Given the description of an element on the screen output the (x, y) to click on. 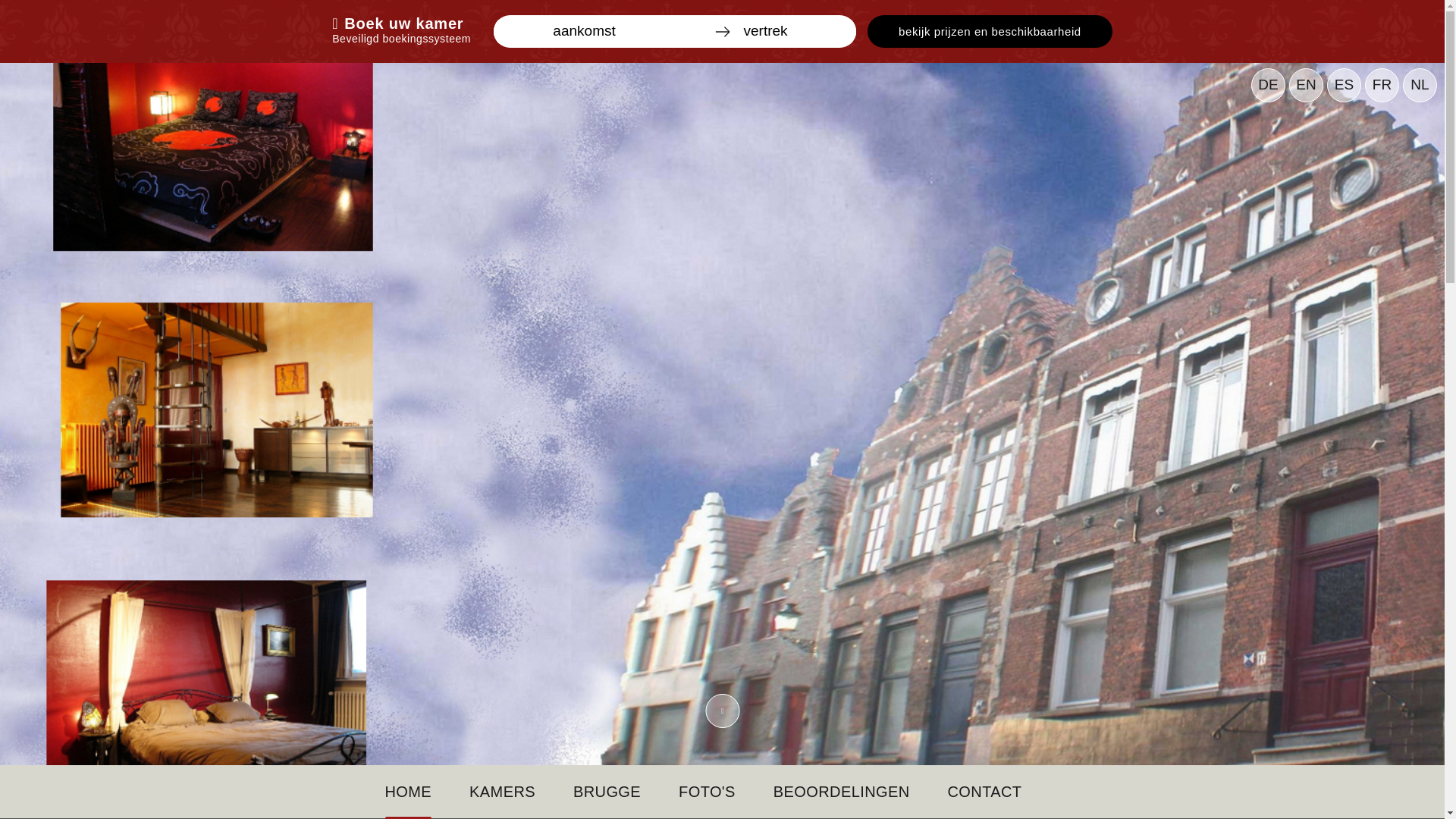
CONTACT Element type: text (984, 791)
EN Element type: text (1306, 85)
HOME Element type: text (408, 791)
FR Element type: text (1382, 85)
DE Element type: text (1268, 85)
BEOORDELINGEN Element type: text (841, 791)
BRUGGE Element type: text (606, 791)
KAMERS Element type: text (502, 791)
NL Element type: text (1419, 85)
ES Element type: text (1344, 85)
bekijk prijzen en beschikbaarheid Element type: text (989, 31)
FOTO'S Element type: text (706, 791)
